Given the description of an element on the screen output the (x, y) to click on. 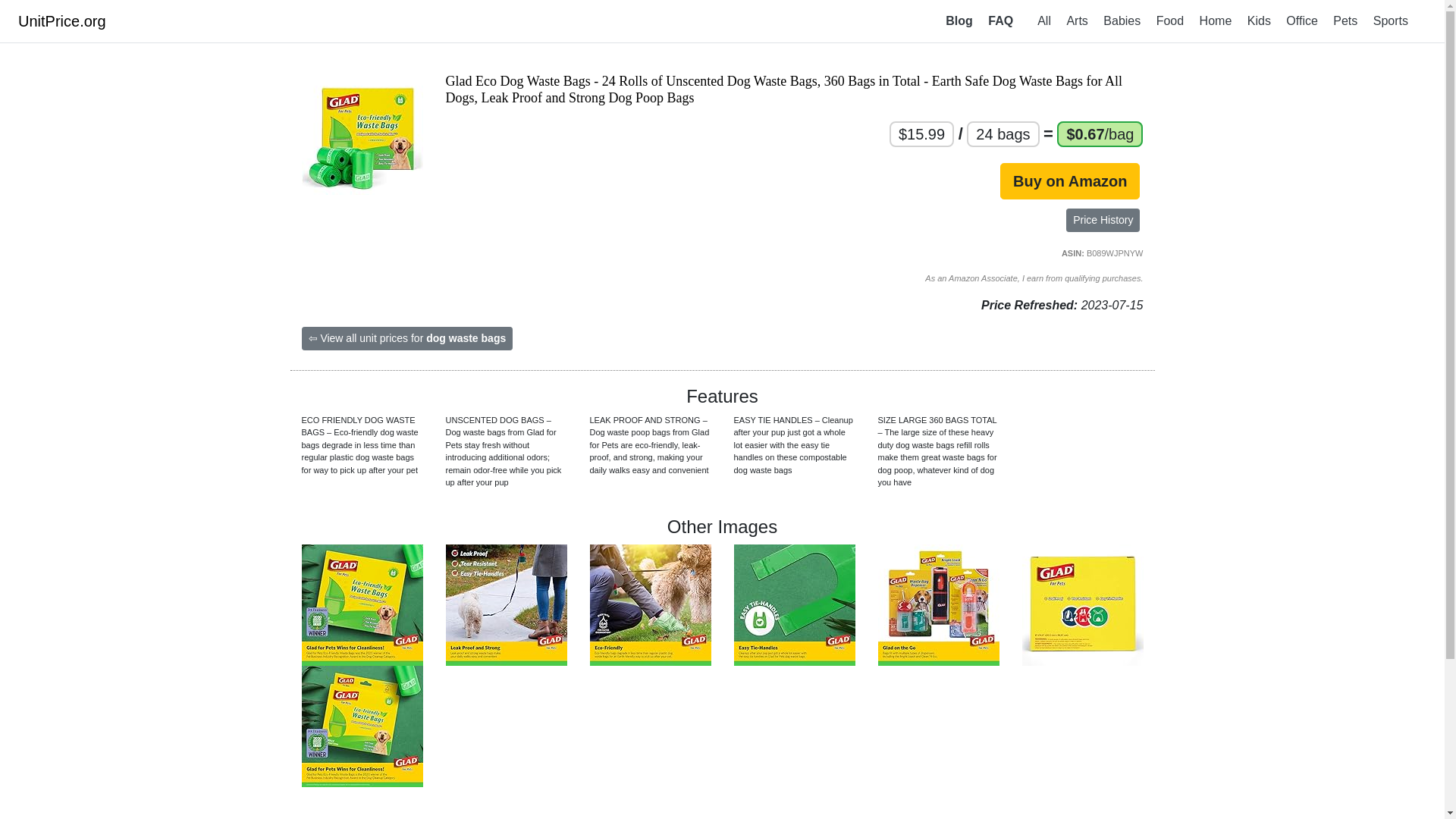
Babies (1122, 20)
FAQ (1000, 20)
Blog (958, 20)
Office (1301, 20)
Price History (1102, 219)
Kids (1258, 20)
Buy on Amazon (1070, 180)
Home (1216, 20)
UnitPrice.org (61, 21)
All (1043, 20)
Food (1169, 20)
Pets (1344, 20)
Sports (1390, 20)
Arts (1076, 20)
